Given the description of an element on the screen output the (x, y) to click on. 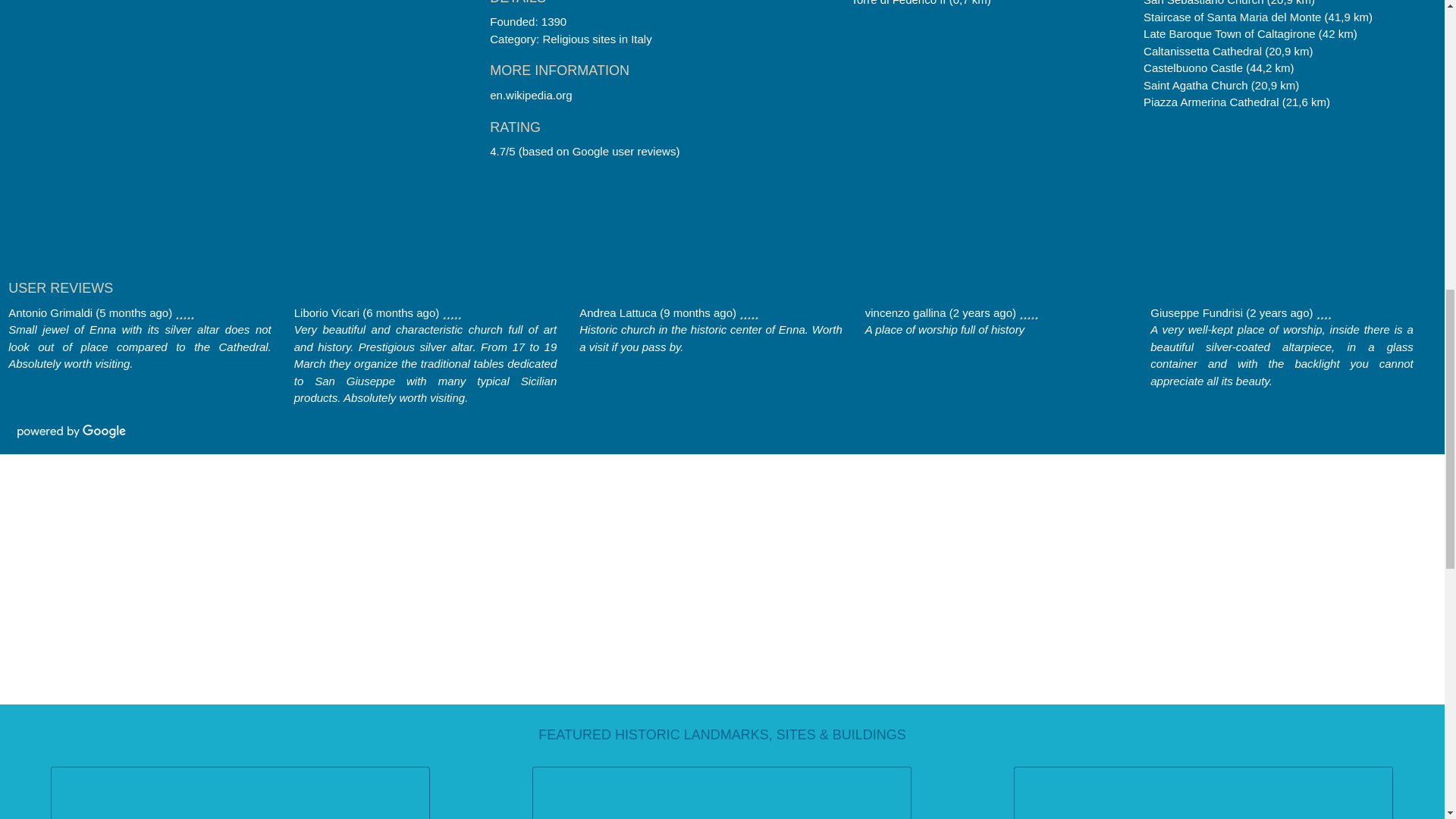
en.wikipedia.org (530, 94)
Exploring the History of Northern Poland (239, 792)
Religious sites in Italy (595, 38)
Discovering Slovenia's Historic Wonders (721, 792)
Historical Gems of Costa Verde (1203, 792)
